Given the description of an element on the screen output the (x, y) to click on. 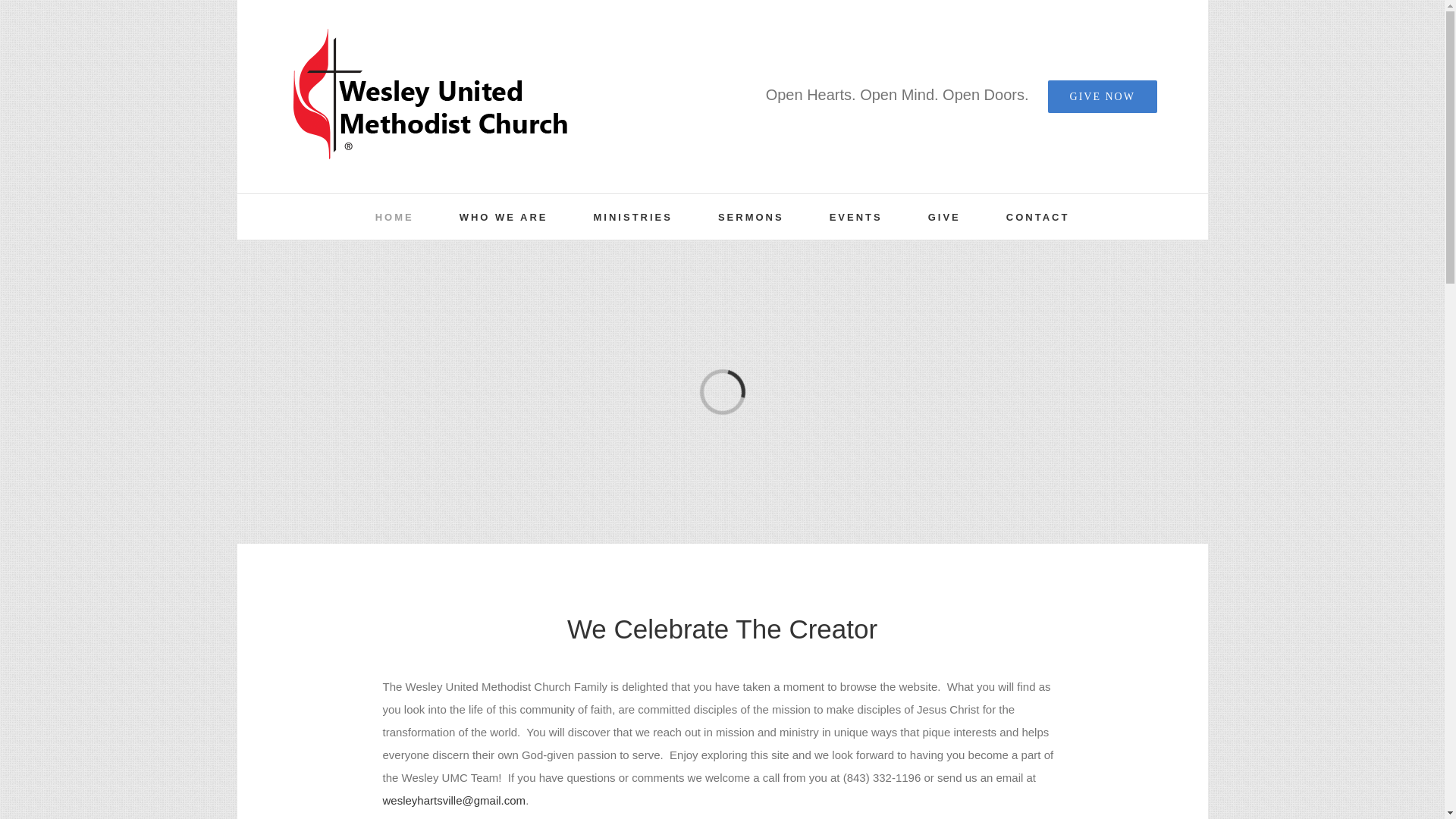
EVENTS (855, 216)
WHO WE ARE (504, 216)
GIVE NOW (1102, 96)
CONTACT (1038, 216)
SERMONS (750, 216)
MINISTRIES (633, 216)
